Given the description of an element on the screen output the (x, y) to click on. 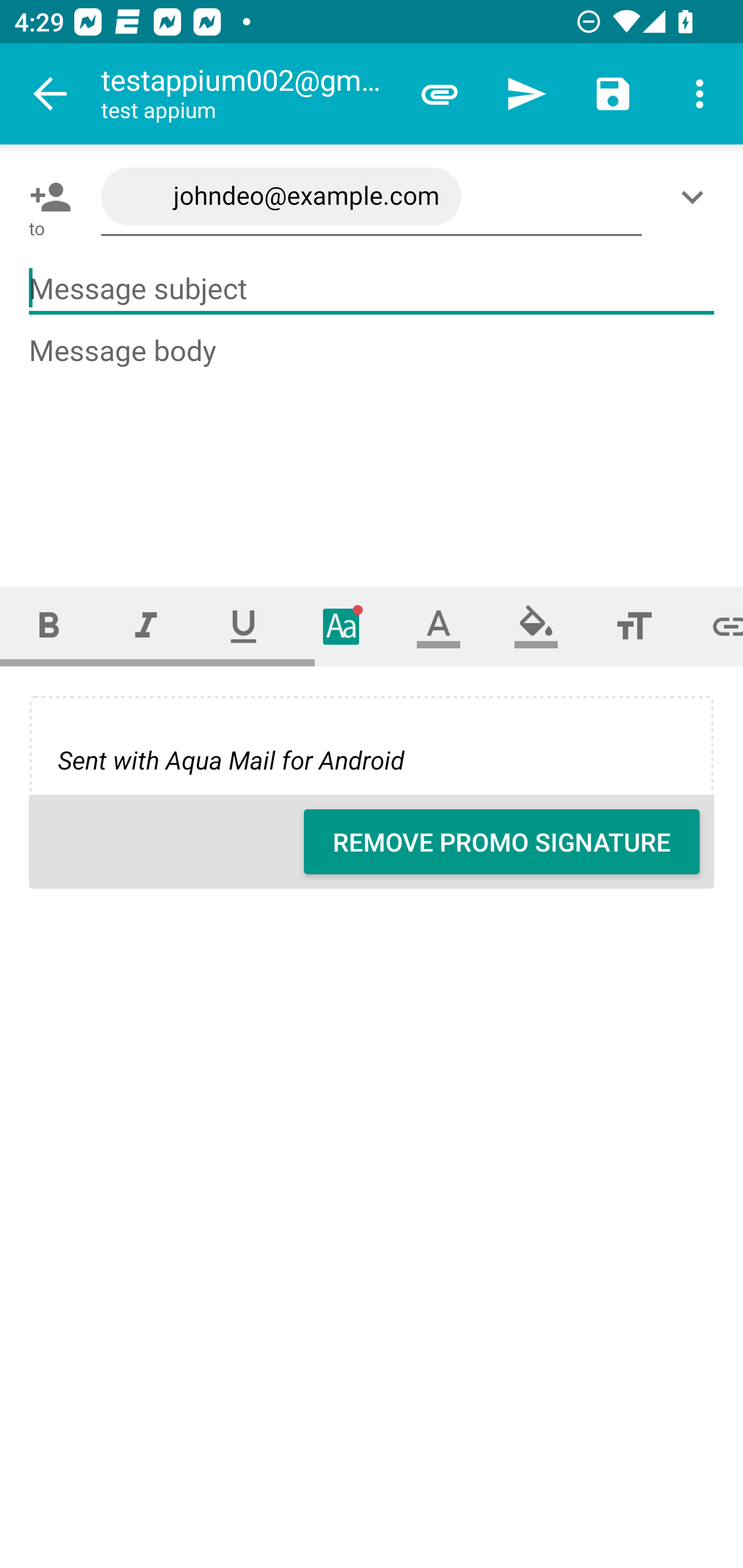
Navigate up (50, 93)
testappium002@gmail.com test appium (248, 93)
Attach (439, 93)
Send (525, 93)
Save (612, 93)
More options (699, 93)
johndeo@example.com,  (371, 197)
Pick contact: To (46, 196)
Show/Add CC/BCC (696, 196)
Message subject (371, 288)
Message body (372, 442)
Bold (48, 626)
Italic (145, 626)
Underline (243, 626)
Typeface (font) (341, 626)
Text color (438, 626)
Fill color (536, 626)
Font size (633, 626)
Set link (712, 626)
REMOVE PROMO SIGNATURE (501, 841)
